Given the description of an element on the screen output the (x, y) to click on. 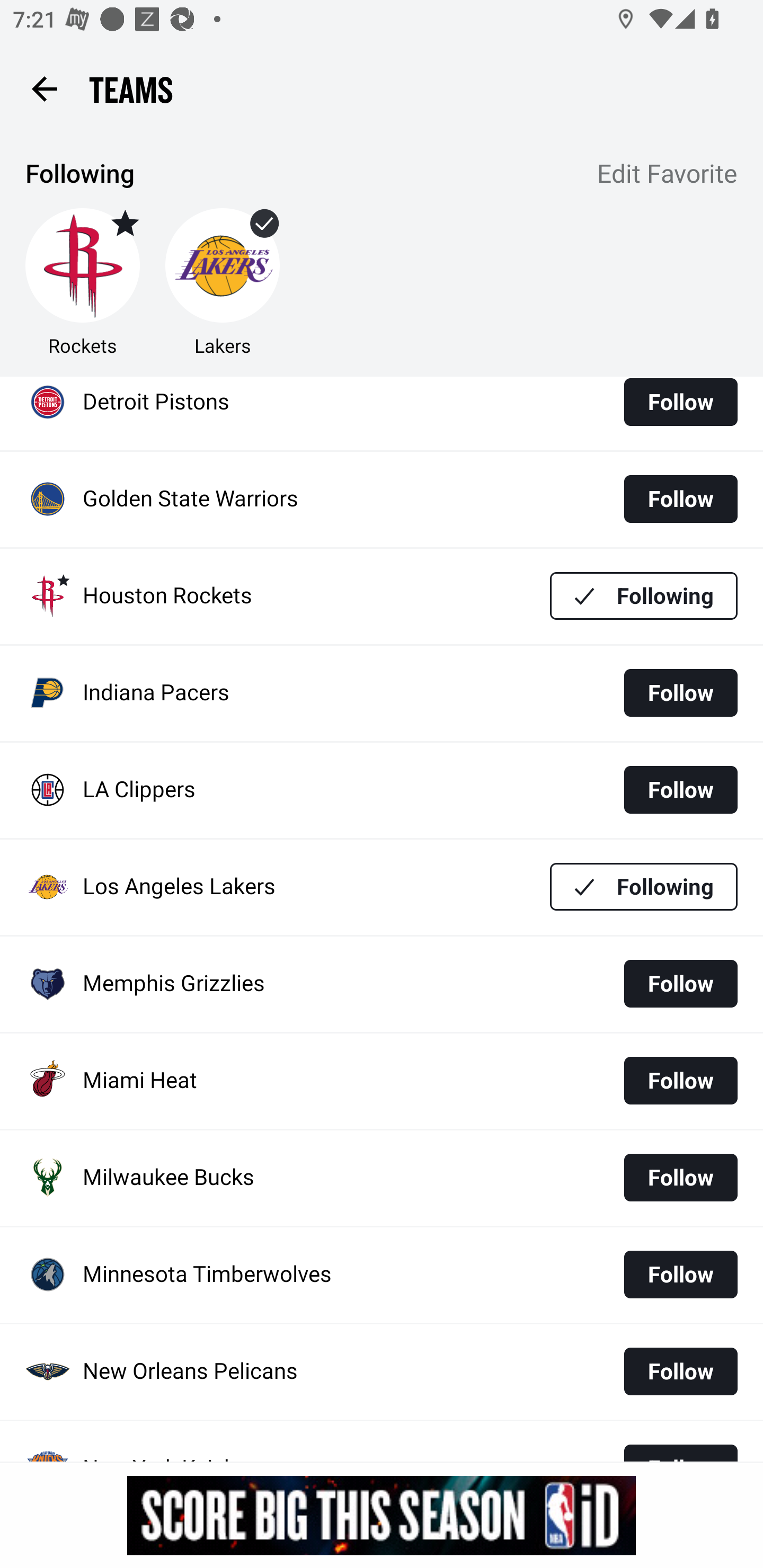
Back button (44, 88)
Edit Favorite (667, 175)
Detroit Pistons Follow (381, 413)
Follow (680, 408)
Golden State Warriors Follow (381, 499)
Follow (680, 498)
Houston Rockets Following (381, 596)
Following (643, 595)
Indiana Pacers Follow (381, 693)
Follow (680, 692)
LA Clippers Follow (381, 790)
Follow (680, 789)
Los Angeles Lakers Following (381, 886)
Following (643, 886)
Memphis Grizzlies Follow (381, 983)
Follow (680, 983)
Miami Heat Follow (381, 1080)
Follow (680, 1080)
Milwaukee Bucks Follow (381, 1178)
Follow (680, 1177)
Minnesota Timberwolves Follow (381, 1275)
Follow (680, 1274)
New Orleans Pelicans Follow (381, 1371)
Follow (680, 1370)
g5nqqygr7owph (381, 1515)
